Given the description of an element on the screen output the (x, y) to click on. 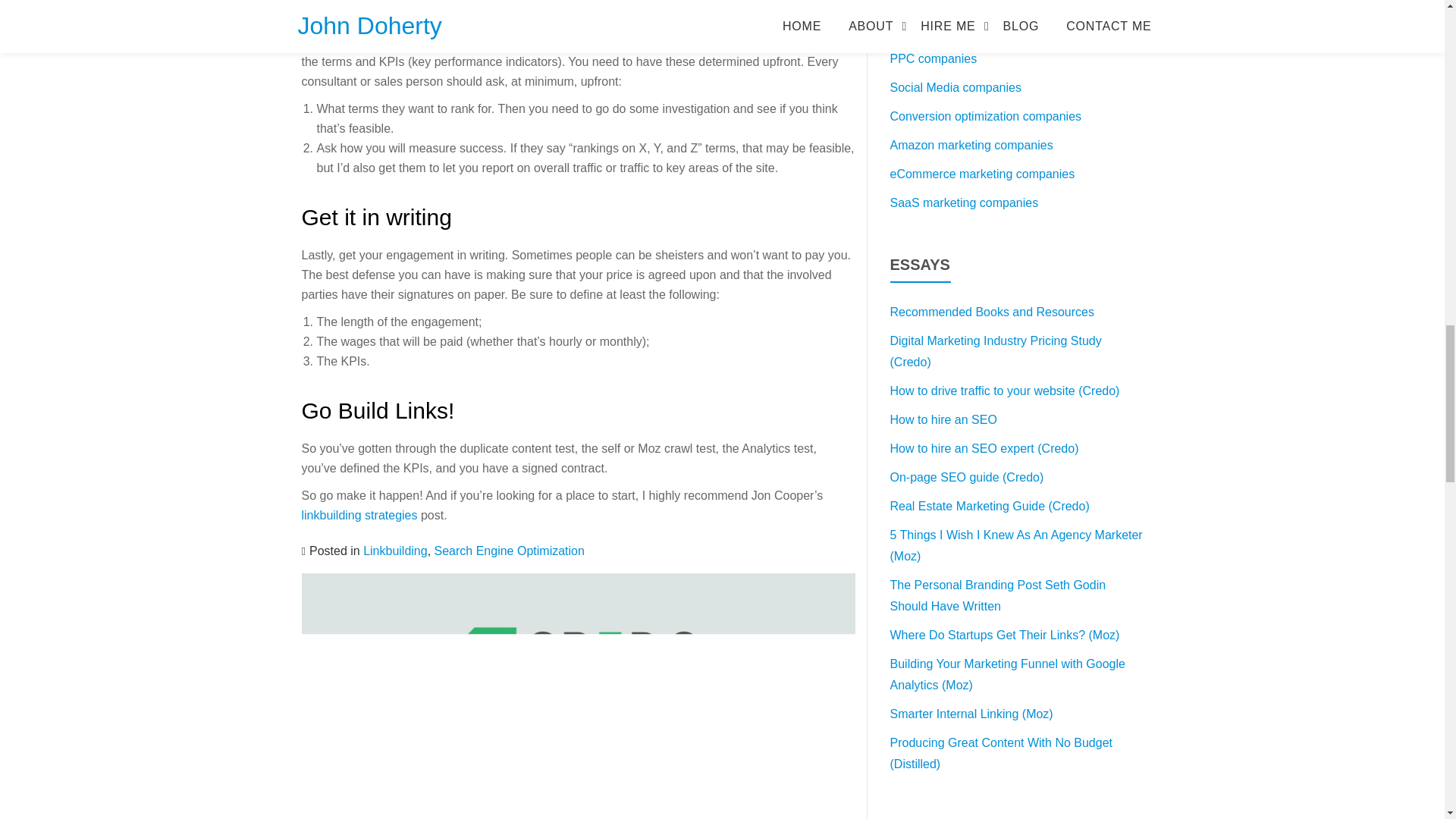
linkbuilding strategies (359, 514)
Linkbuilding (395, 550)
Search Engine Optimization (509, 550)
